Given the description of an element on the screen output the (x, y) to click on. 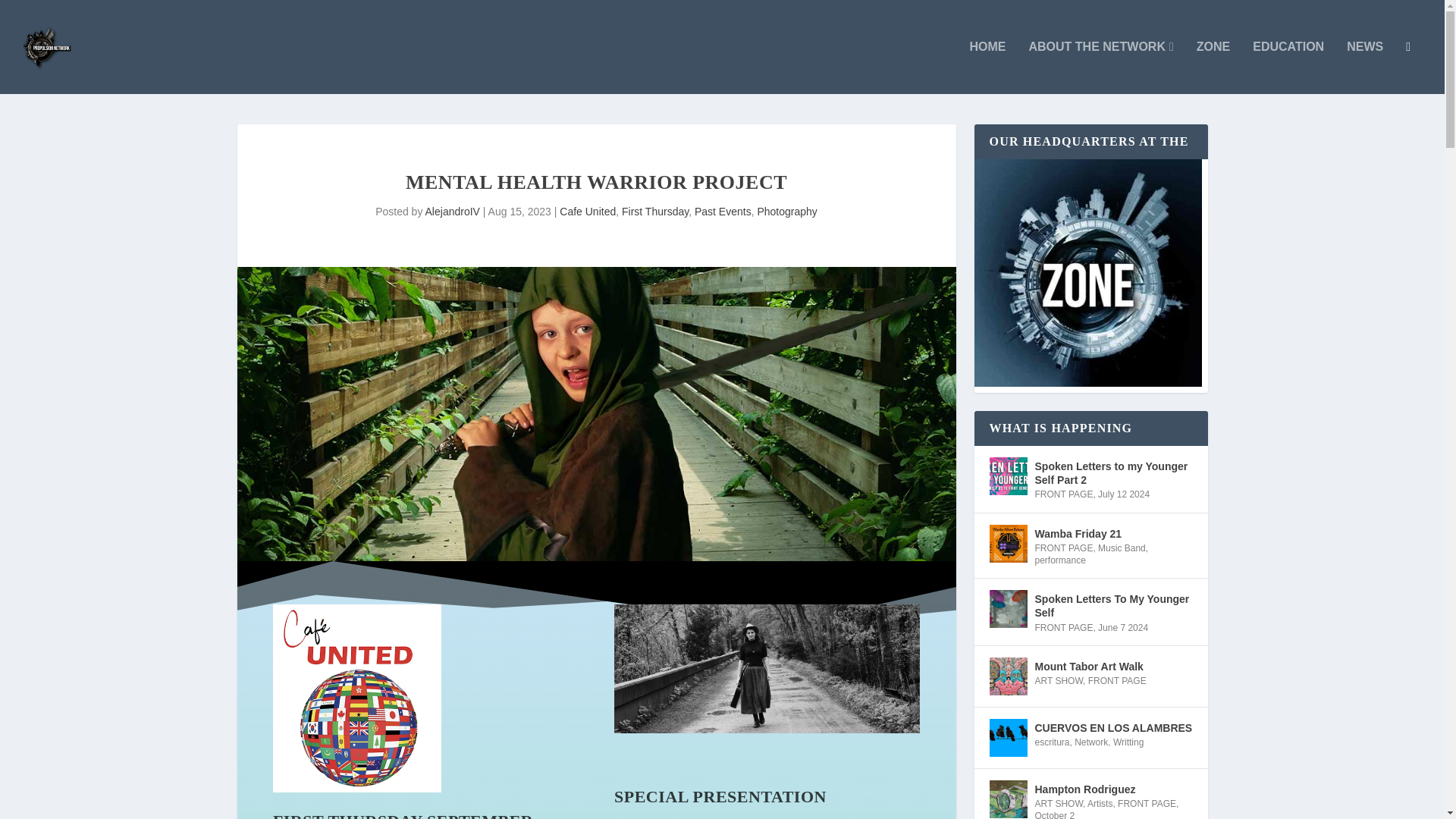
cafe-united (357, 698)
yosi-h (767, 668)
ABOUT THE NETWORK (1100, 67)
EDUCATION (1287, 67)
AlejandroIV (452, 211)
Posts by AlejandroIV (452, 211)
Photography (786, 211)
Cafe United (587, 211)
First Thursday (654, 211)
Past Events (722, 211)
